Given the description of an element on the screen output the (x, y) to click on. 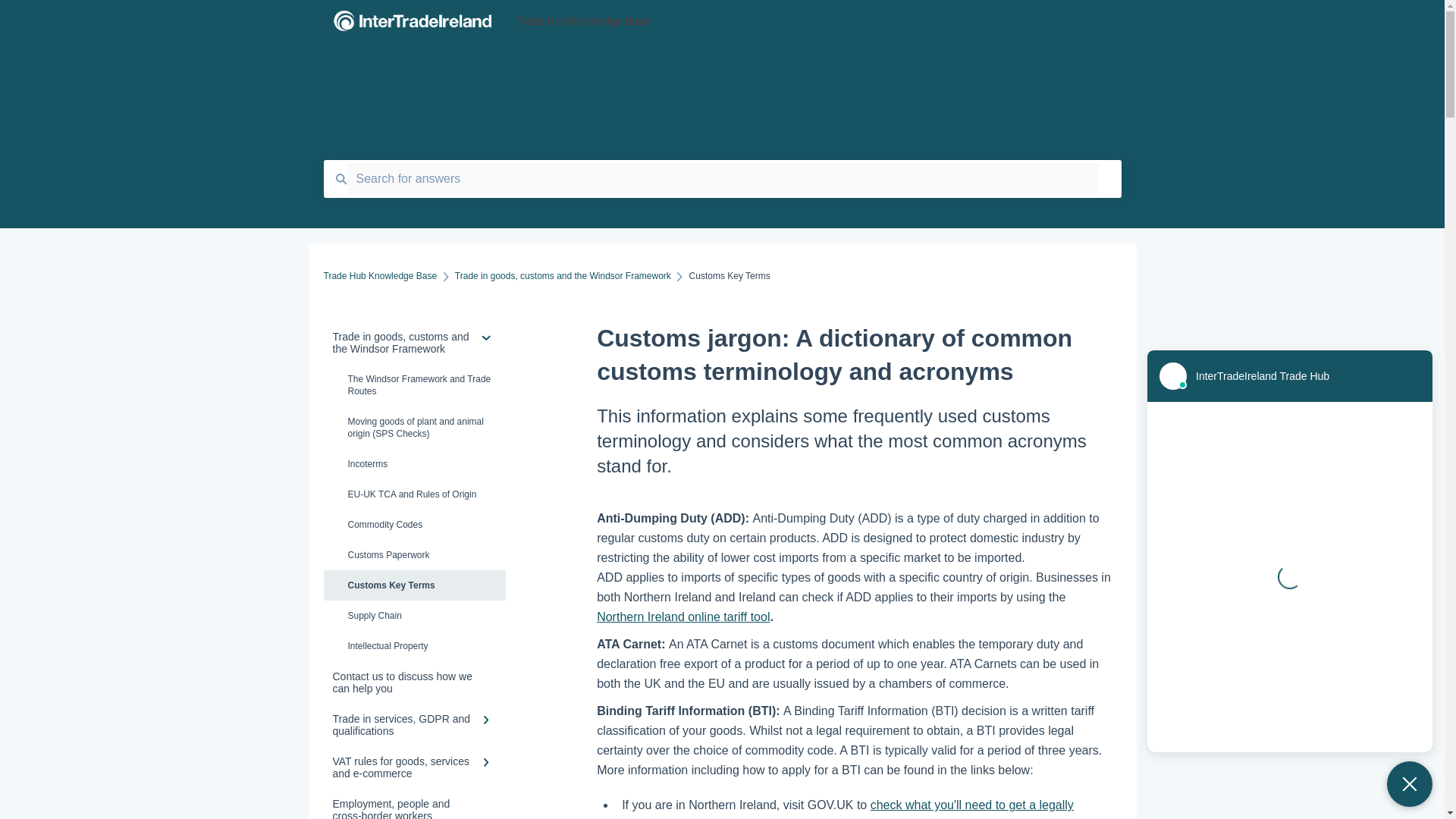
Trade in goods, customs and the Windsor Framework (562, 276)
Trade Hub Knowledge Base (379, 276)
Trade Hub Knowledge Base (801, 21)
